Given the description of an element on the screen output the (x, y) to click on. 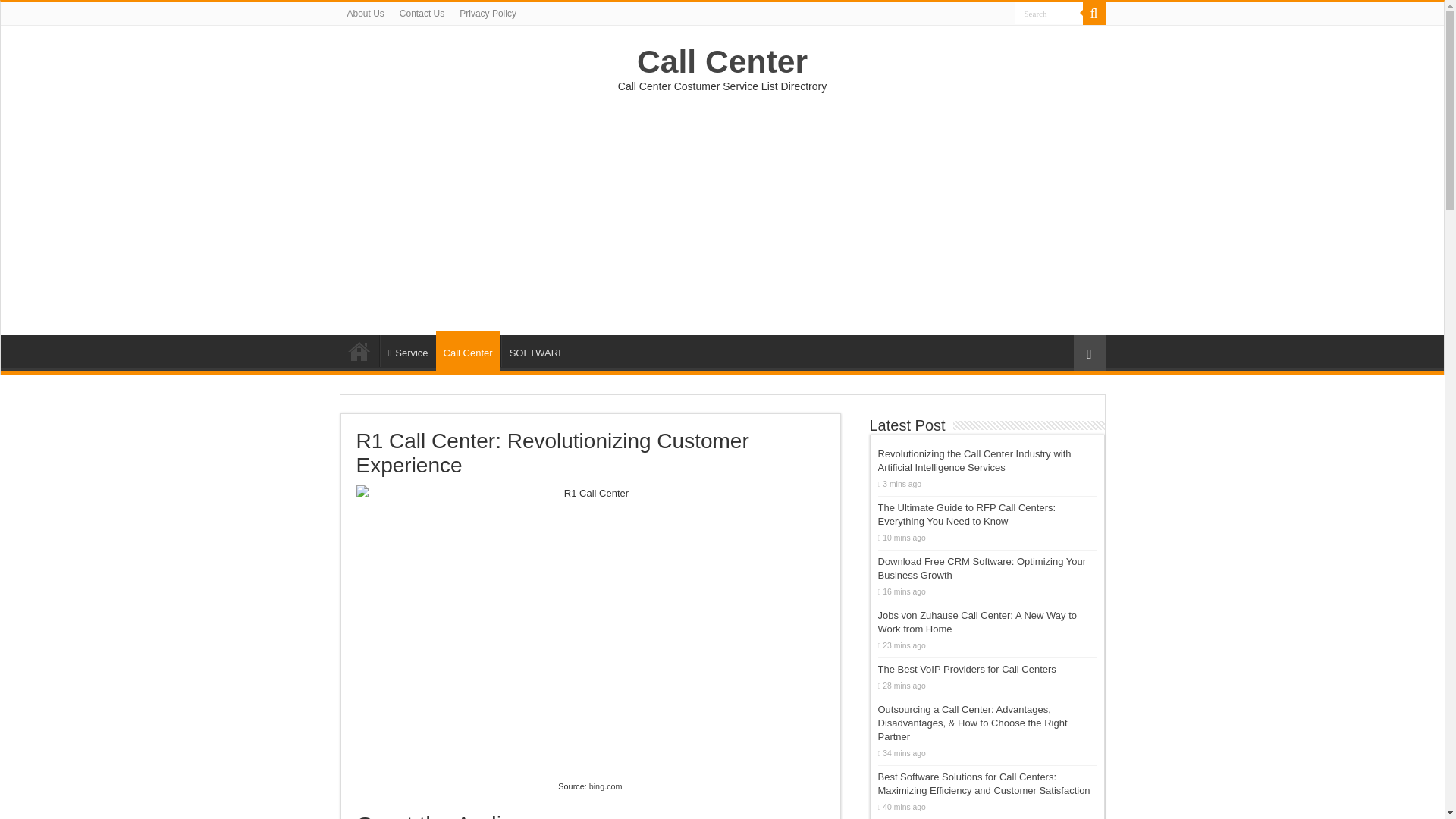
Search (1094, 13)
Search (1048, 13)
Call Center (467, 351)
Service (406, 350)
bing.com (606, 786)
The Best VoIP Providers for Call Centers (967, 668)
Search (1048, 13)
Search (1048, 13)
Contact Us (421, 13)
Privacy Policy (487, 13)
SOFTWARE (536, 350)
HOME (358, 350)
